Given the description of an element on the screen output the (x, y) to click on. 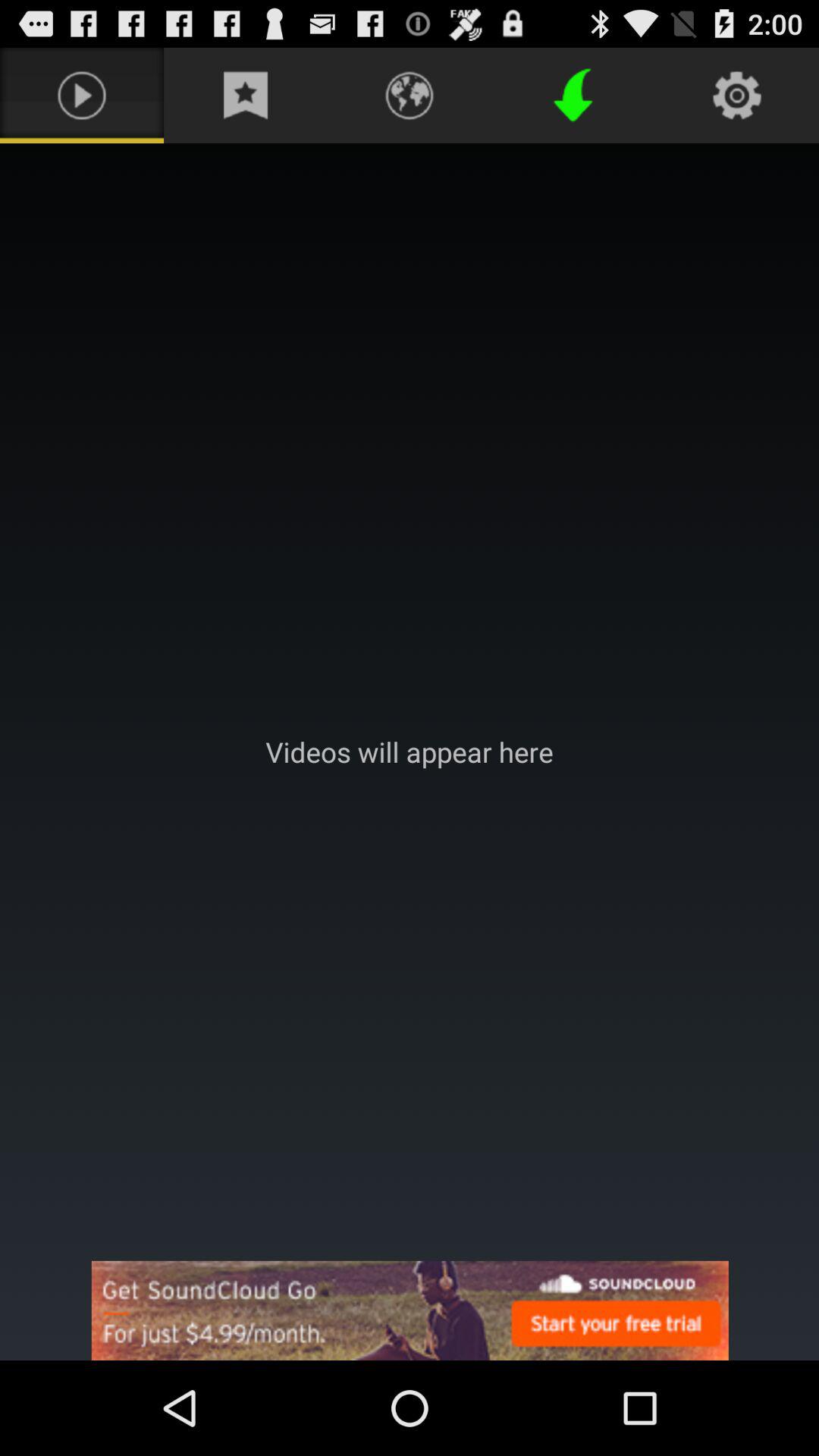
area where videos will appear (409, 751)
